Given the description of an element on the screen output the (x, y) to click on. 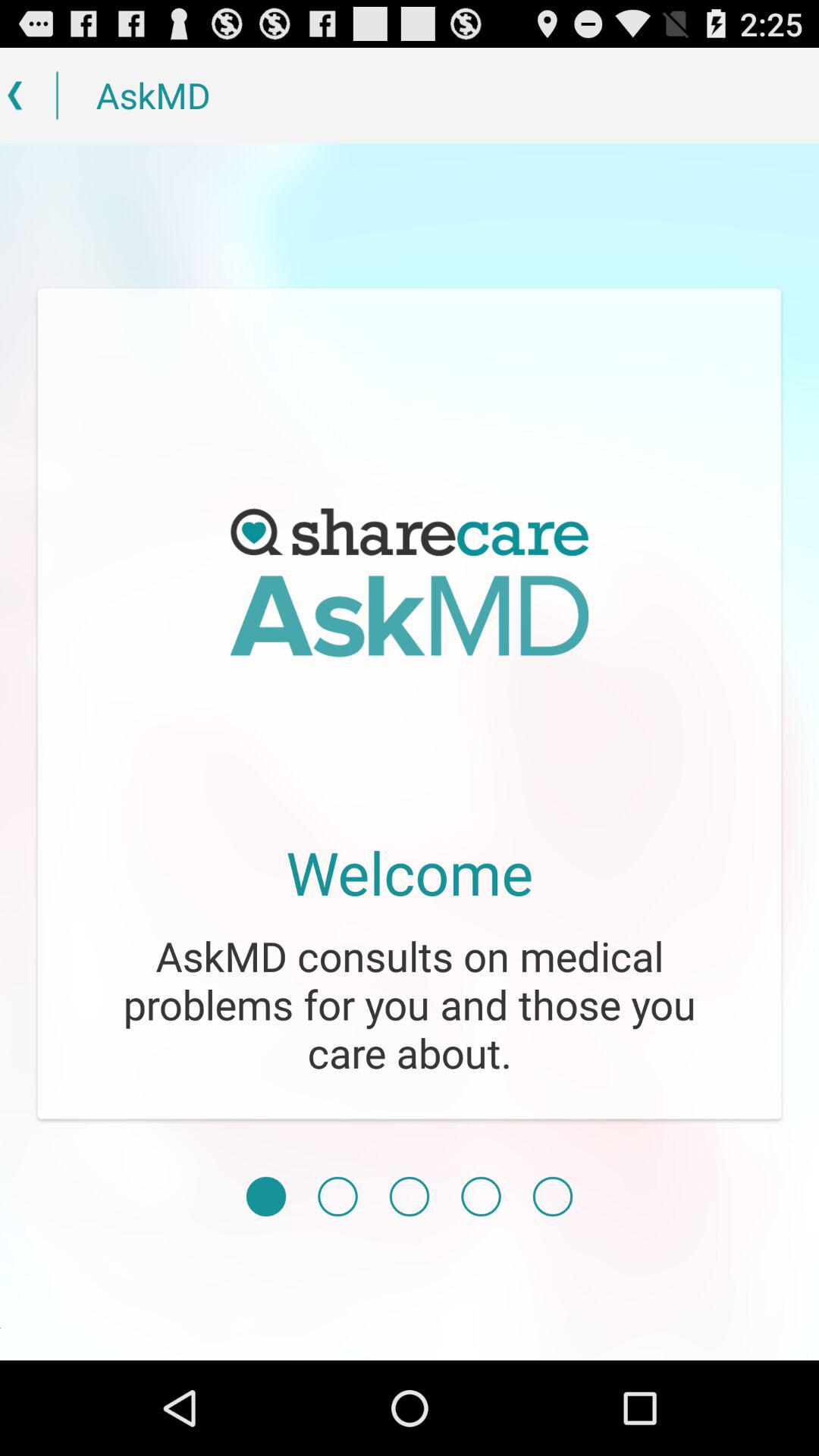
click the radio button at the bottom right corner (552, 1196)
